Given the description of an element on the screen output the (x, y) to click on. 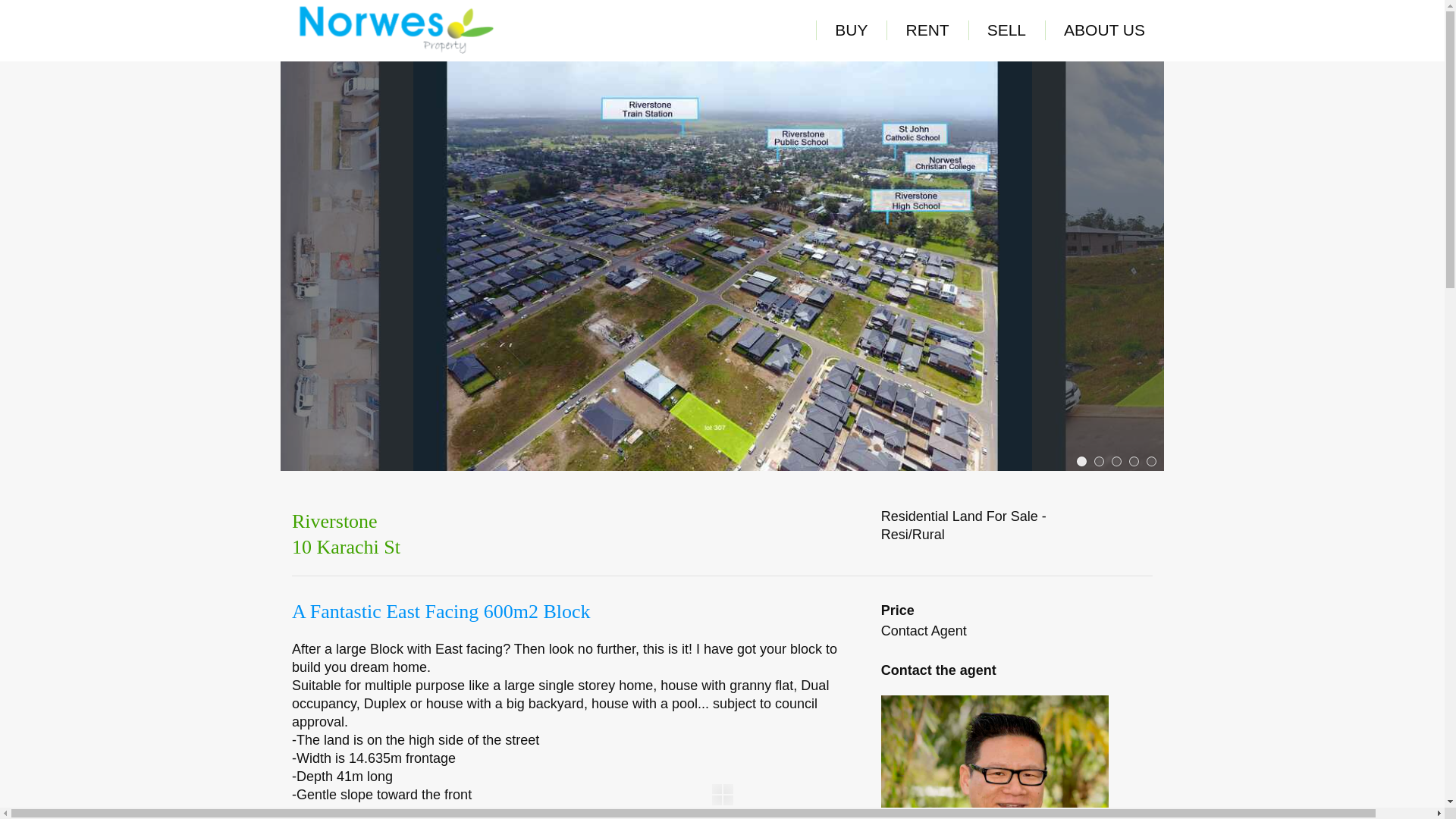
RENT Element type: text (926, 30)
SELL Element type: text (1006, 30)
BUY Element type: text (850, 30)
ABOUT US Element type: text (1104, 30)
